Given the description of an element on the screen output the (x, y) to click on. 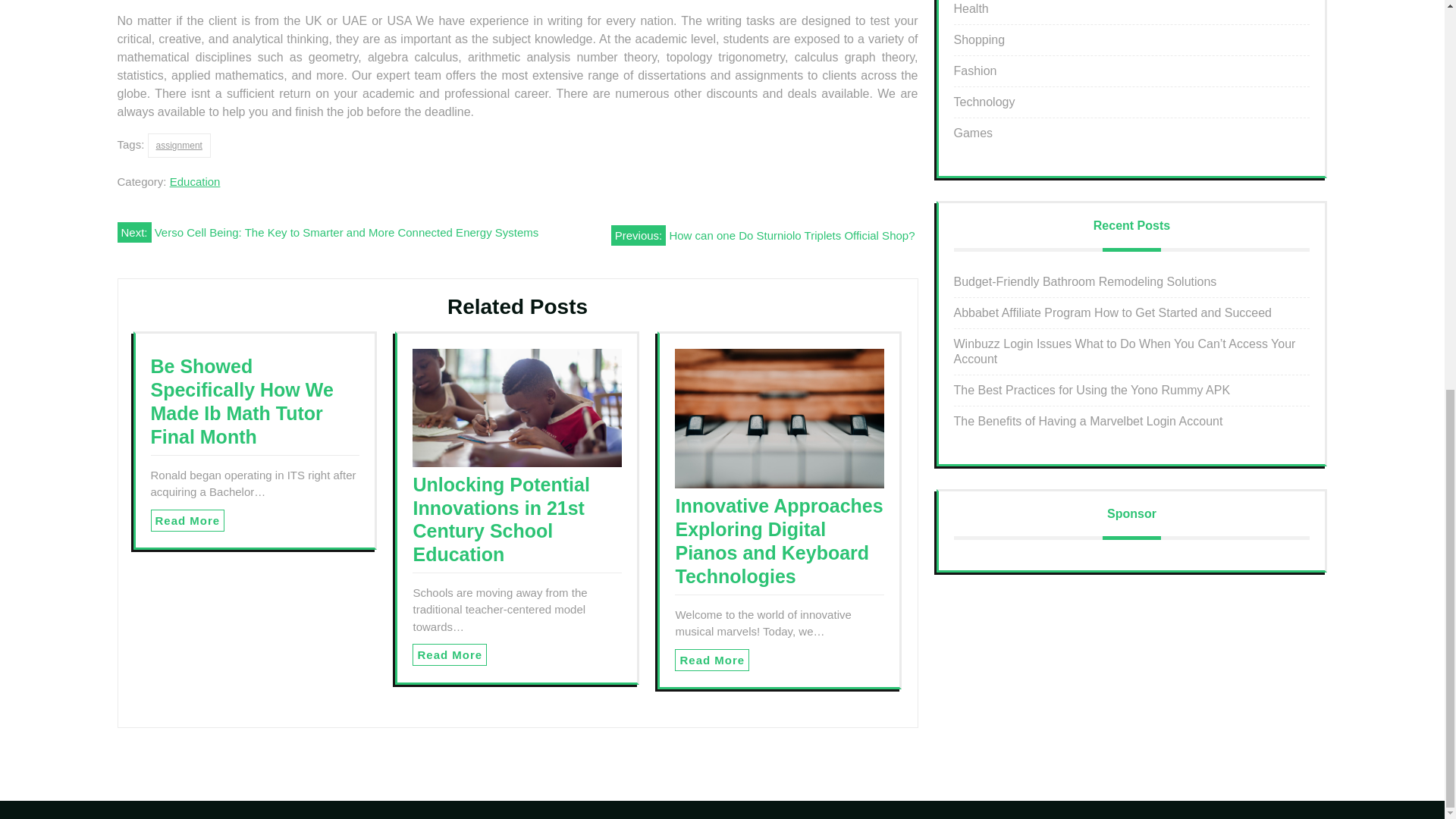
Shopping (979, 39)
Fashion (975, 70)
Read More (449, 654)
Be Showed Specifically How We Made Ib Math Tutor Final Month (241, 400)
Education (195, 181)
Read More (186, 520)
Read More (712, 659)
Health (970, 8)
Technology (983, 101)
